Given the description of an element on the screen output the (x, y) to click on. 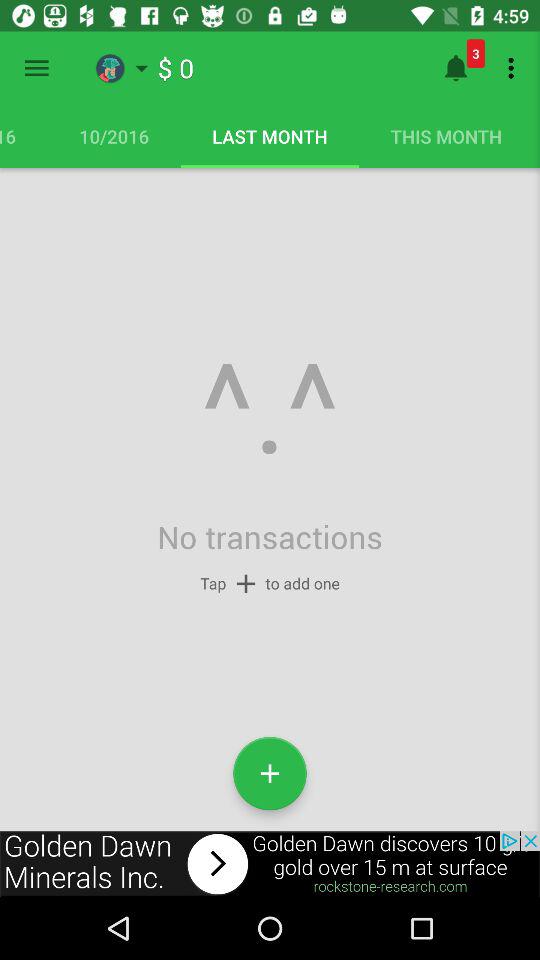
menu option (36, 68)
